Given the description of an element on the screen output the (x, y) to click on. 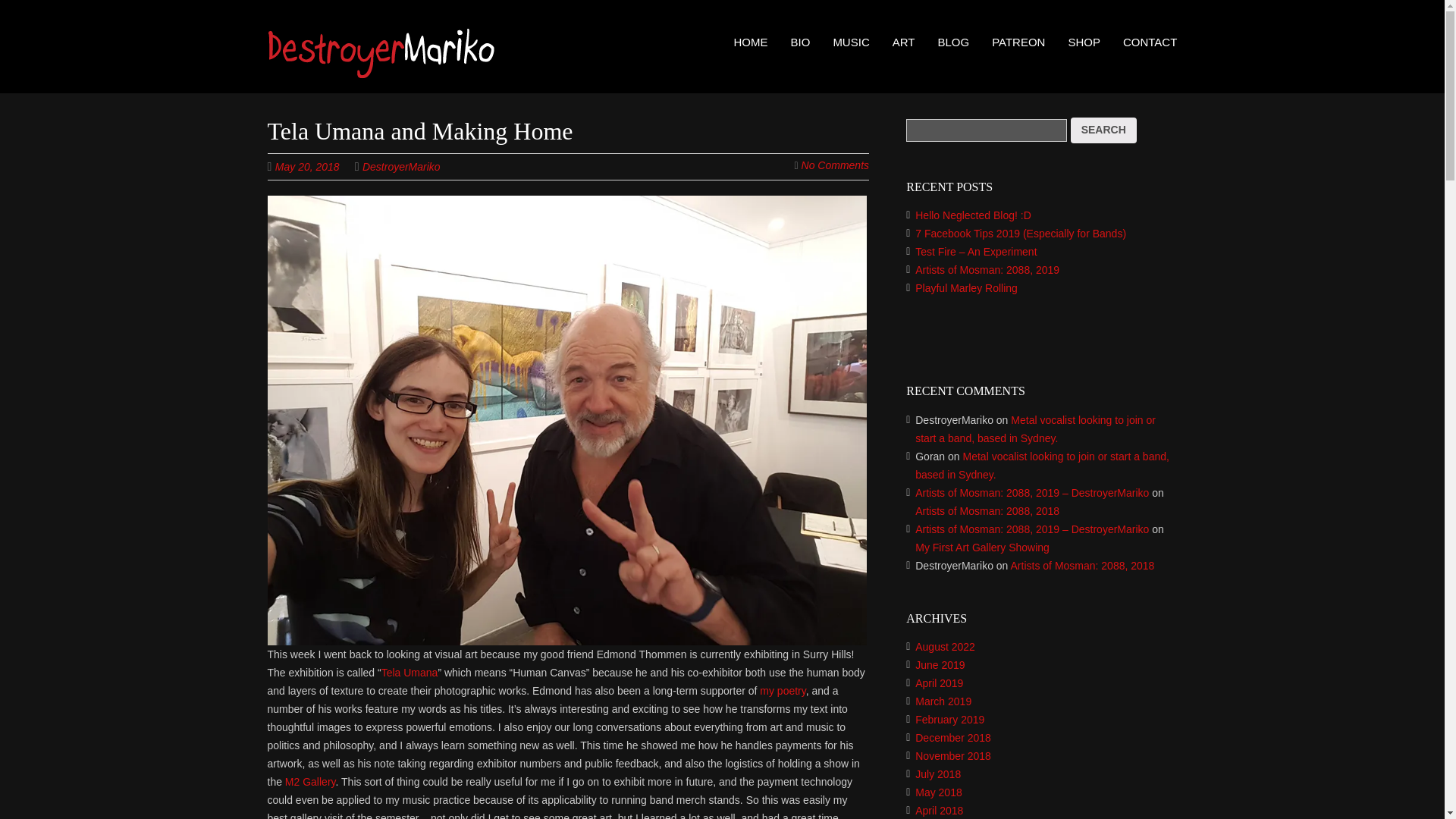
CONTACT (1149, 42)
Artists of Mosman: 2088, 2019 (987, 269)
MUSIC (850, 42)
Tela Umana (409, 672)
DestroyerMariko (380, 66)
May 20, 2018 (315, 165)
Search (1103, 130)
SHOP (1083, 42)
M2 Gallery (310, 781)
View all posts by DestroyerMariko (401, 166)
